Given the description of an element on the screen output the (x, y) to click on. 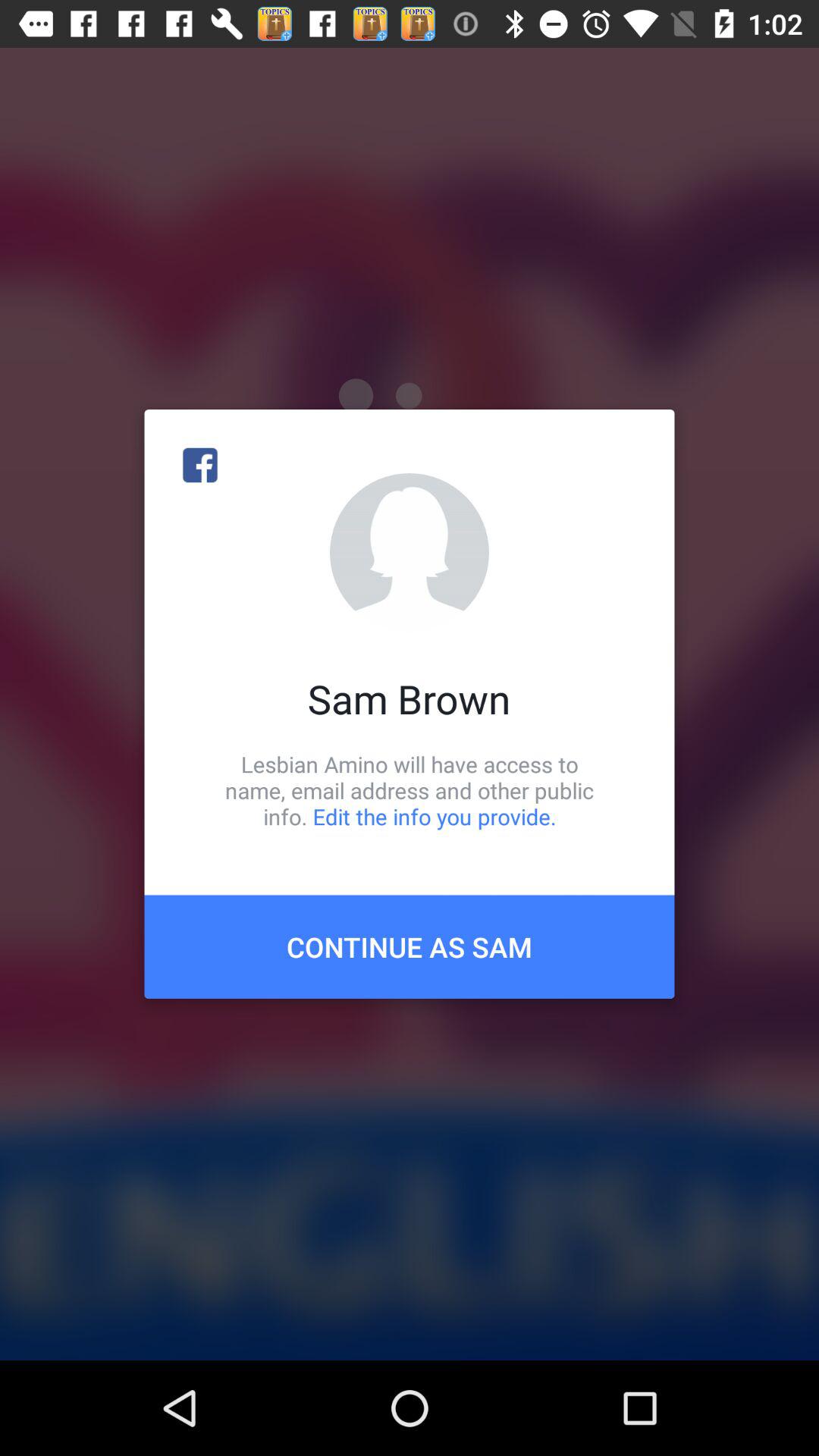
press the lesbian amino will item (409, 790)
